Given the description of an element on the screen output the (x, y) to click on. 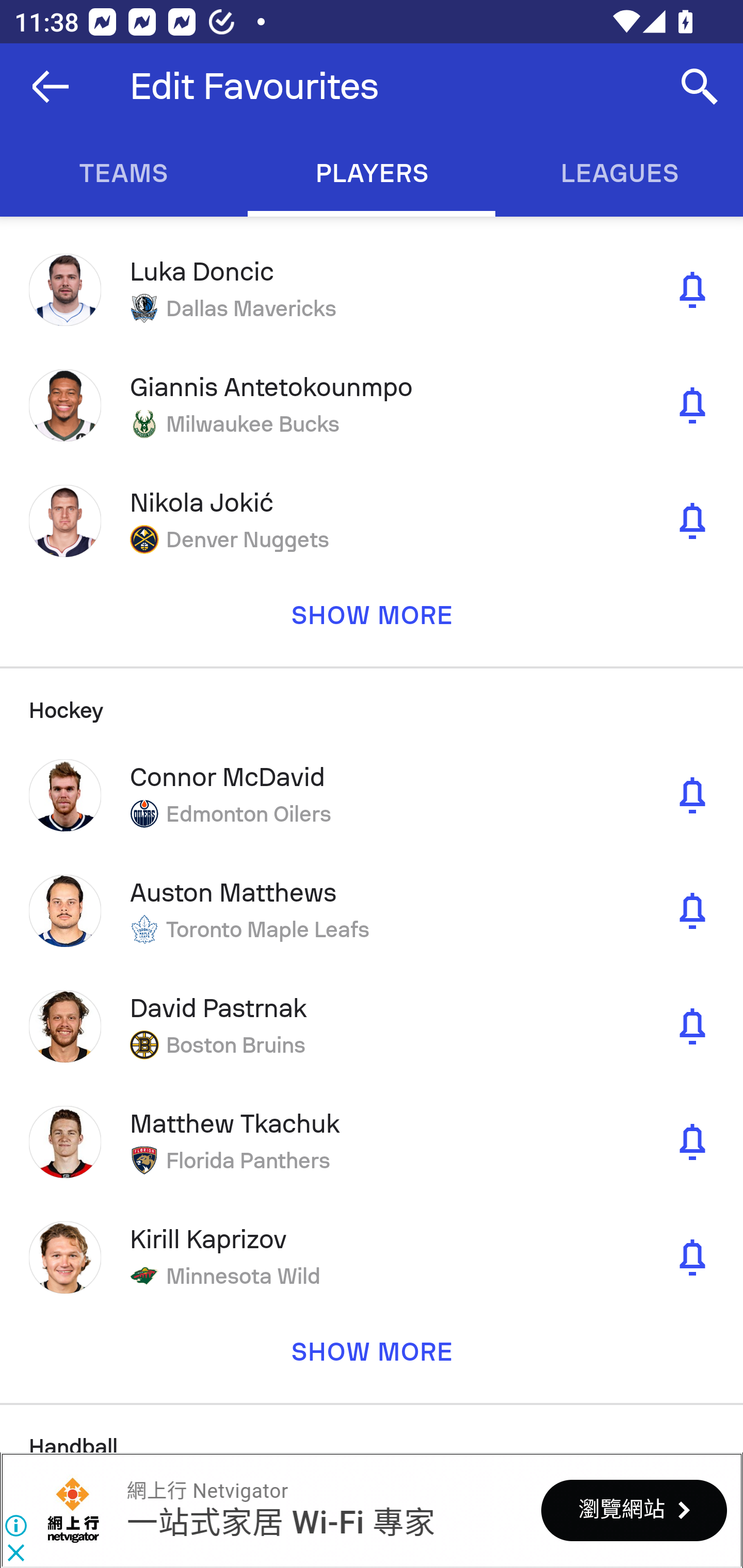
Navigate up (50, 86)
Search (699, 86)
Teams TEAMS (123, 173)
Leagues LEAGUES (619, 173)
Luka Doncic Dallas Mavericks (371, 290)
Giannis Antetokounmpo Milwaukee Bucks (371, 405)
Nikola Jokić Denver Nuggets (371, 520)
SHOW MORE (371, 622)
Hockey (371, 701)
Connor McDavid Edmonton Oilers (371, 794)
Auston Matthews Toronto Maple Leafs (371, 910)
David Pastrnak Boston Bruins (371, 1026)
Matthew Tkachuk Florida Panthers (371, 1141)
Kirill Kaprizov Minnesota Wild (371, 1257)
SHOW MORE (371, 1359)
網上行 Netvigator (73, 1510)
網上行 Netvigator (206, 1491)
瀏覽網站 (634, 1509)
一站式家居 Wi-Fi 專家 (279, 1522)
